Given the description of an element on the screen output the (x, y) to click on. 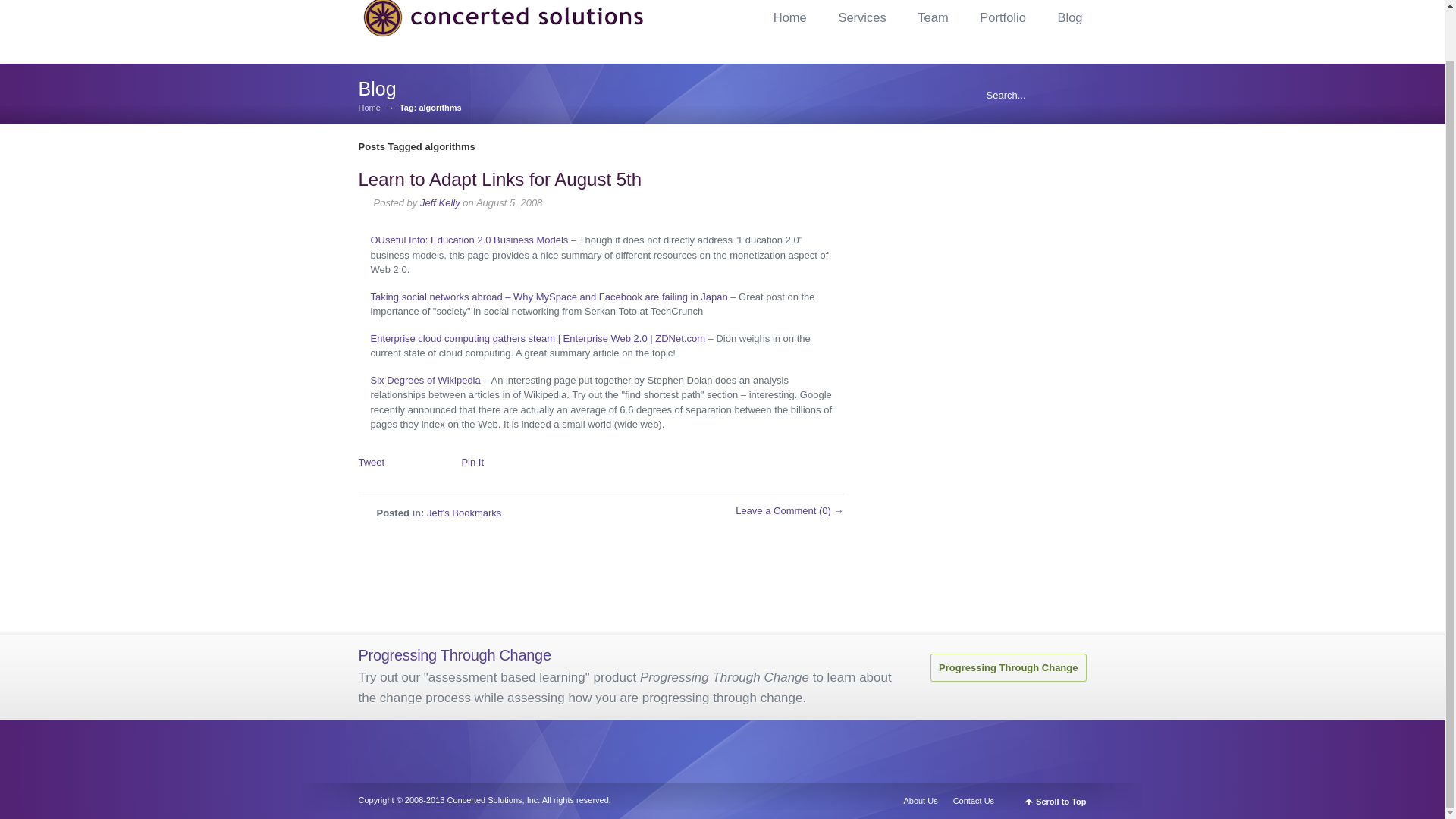
Six Degrees of Wikipedia (424, 379)
Home (369, 108)
About Us (923, 800)
Posts by Jeff Kelly (440, 202)
Team (933, 17)
Blog (1069, 17)
Learn to Adapt Links for August 5th (500, 178)
Services (861, 17)
Learn to Adapt Links for August 5th (500, 178)
Search... (1024, 93)
Portfolio (1002, 17)
Jeff Kelly (440, 202)
Jeff's Bookmarks (463, 512)
Scroll to Top (1055, 801)
OUseful Info: Education 2.0 Business Models (468, 239)
